Given the description of an element on the screen output the (x, y) to click on. 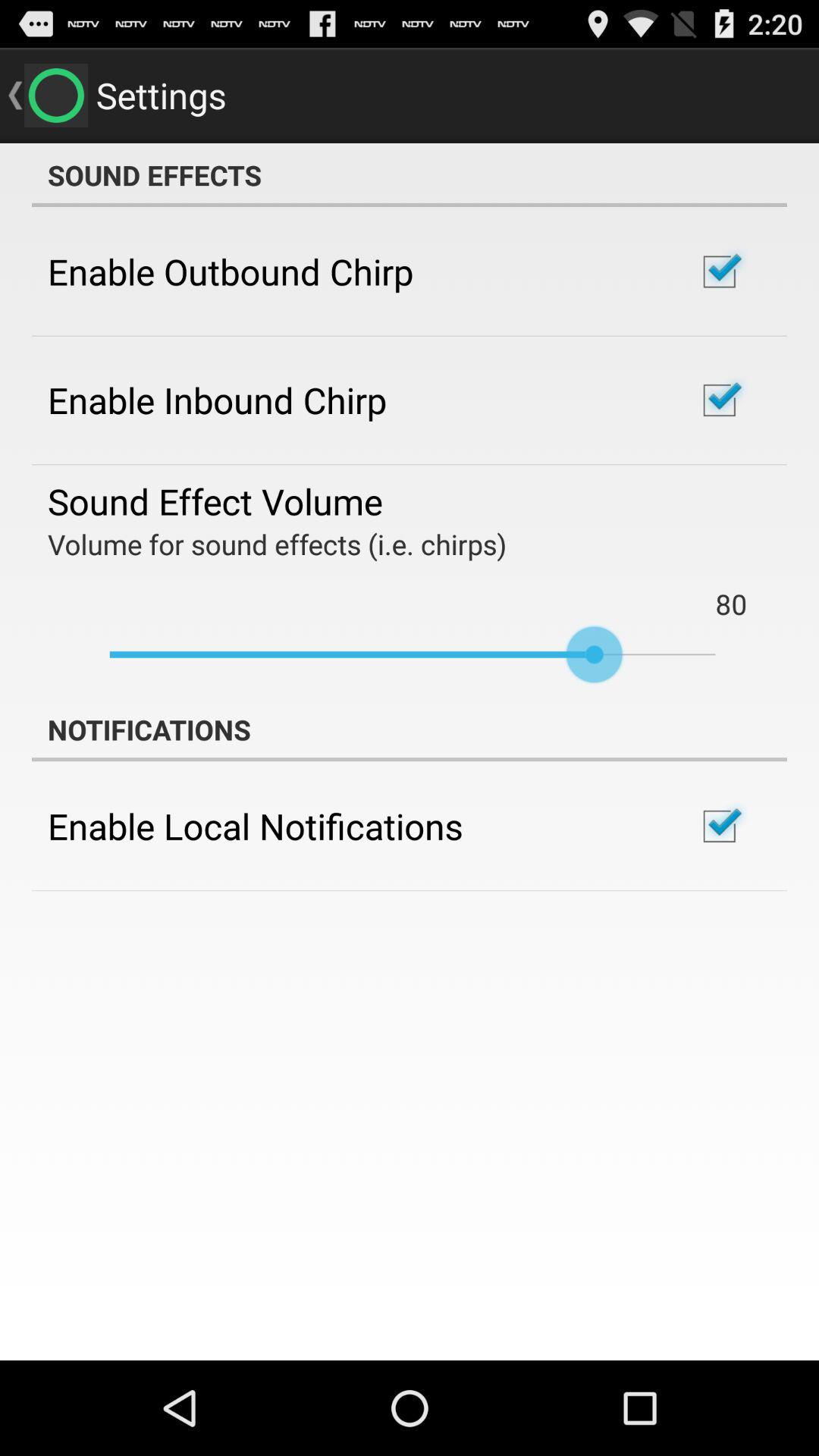
select enable local notifications (254, 825)
